Given the description of an element on the screen output the (x, y) to click on. 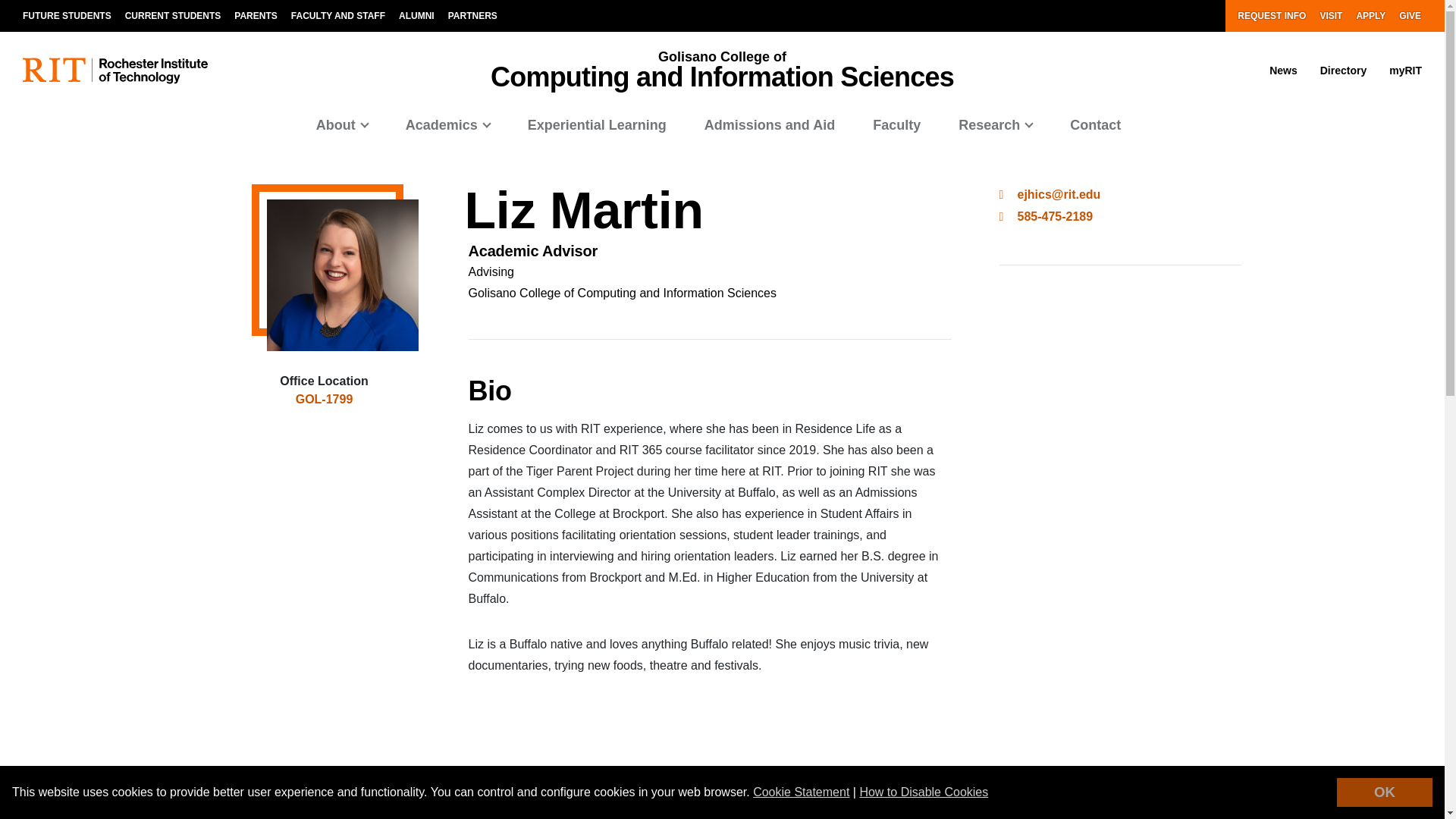
RIT logo and full name (115, 70)
Map showing office location (324, 496)
